Given the description of an element on the screen output the (x, y) to click on. 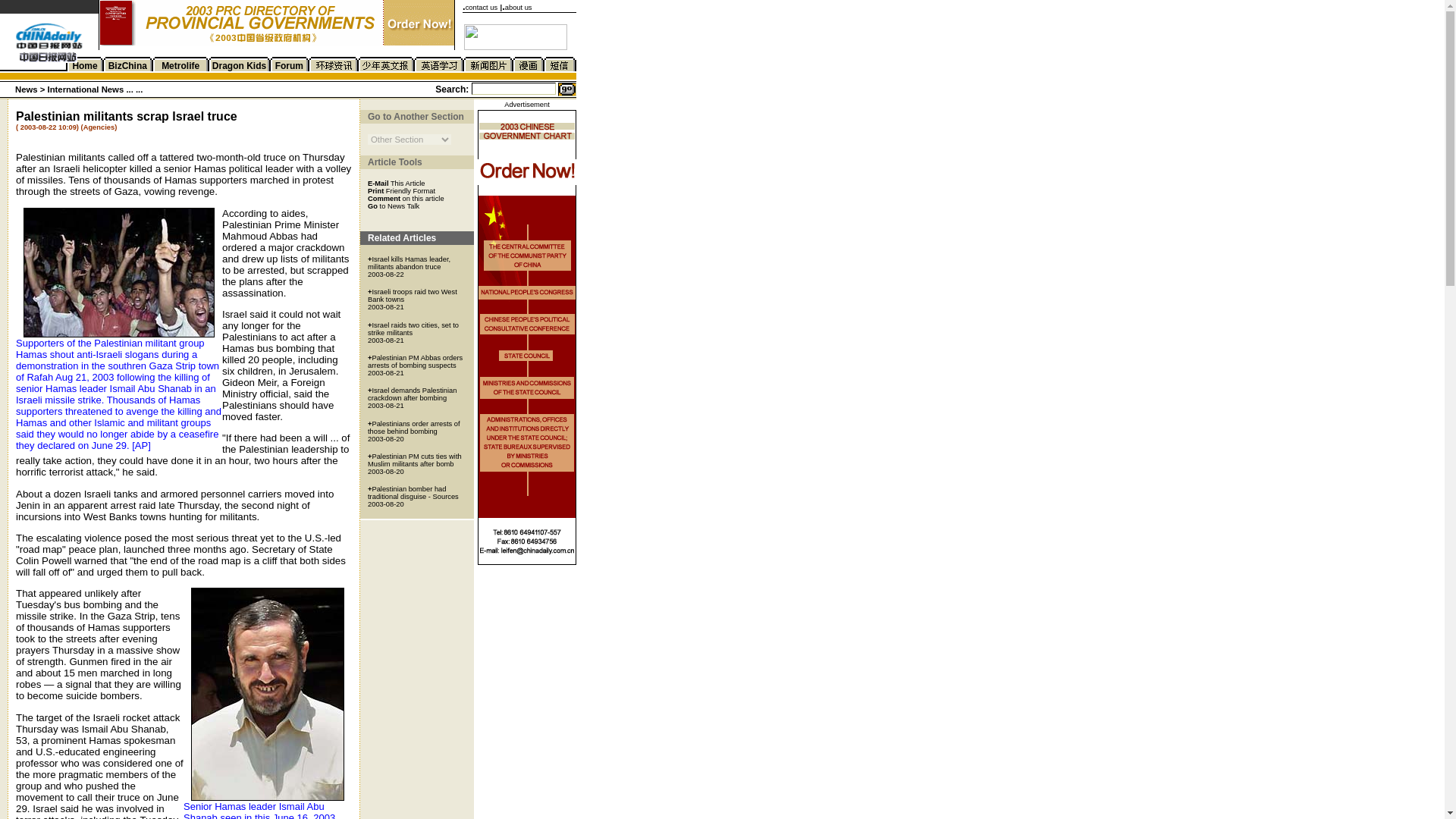
Comment on this article (406, 197)
Dragon Kids (239, 65)
Metrolife (180, 65)
BizChina (127, 65)
Print Friendly Format (401, 190)
Israel kills Hamas leader, militants abandon truce (408, 263)
Palestinian PM Abbas orders arrests of bombing suspects (415, 361)
Go to News Talk (393, 204)
E-Mail This Article (396, 182)
Israeli troops raid two West Bank towns (412, 295)
about us (518, 7)
Palestinians order arrests of those behind bombing (414, 427)
Israel demands Palestinian crackdown after bombing (412, 394)
Home (84, 65)
contact us (481, 7)
